Given the description of an element on the screen output the (x, y) to click on. 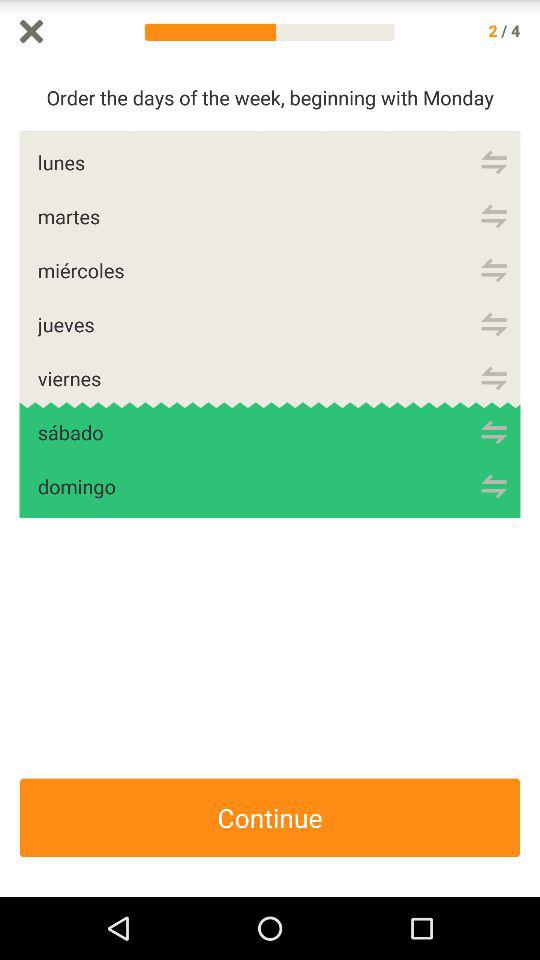
settings button (494, 378)
